Given the description of an element on the screen output the (x, y) to click on. 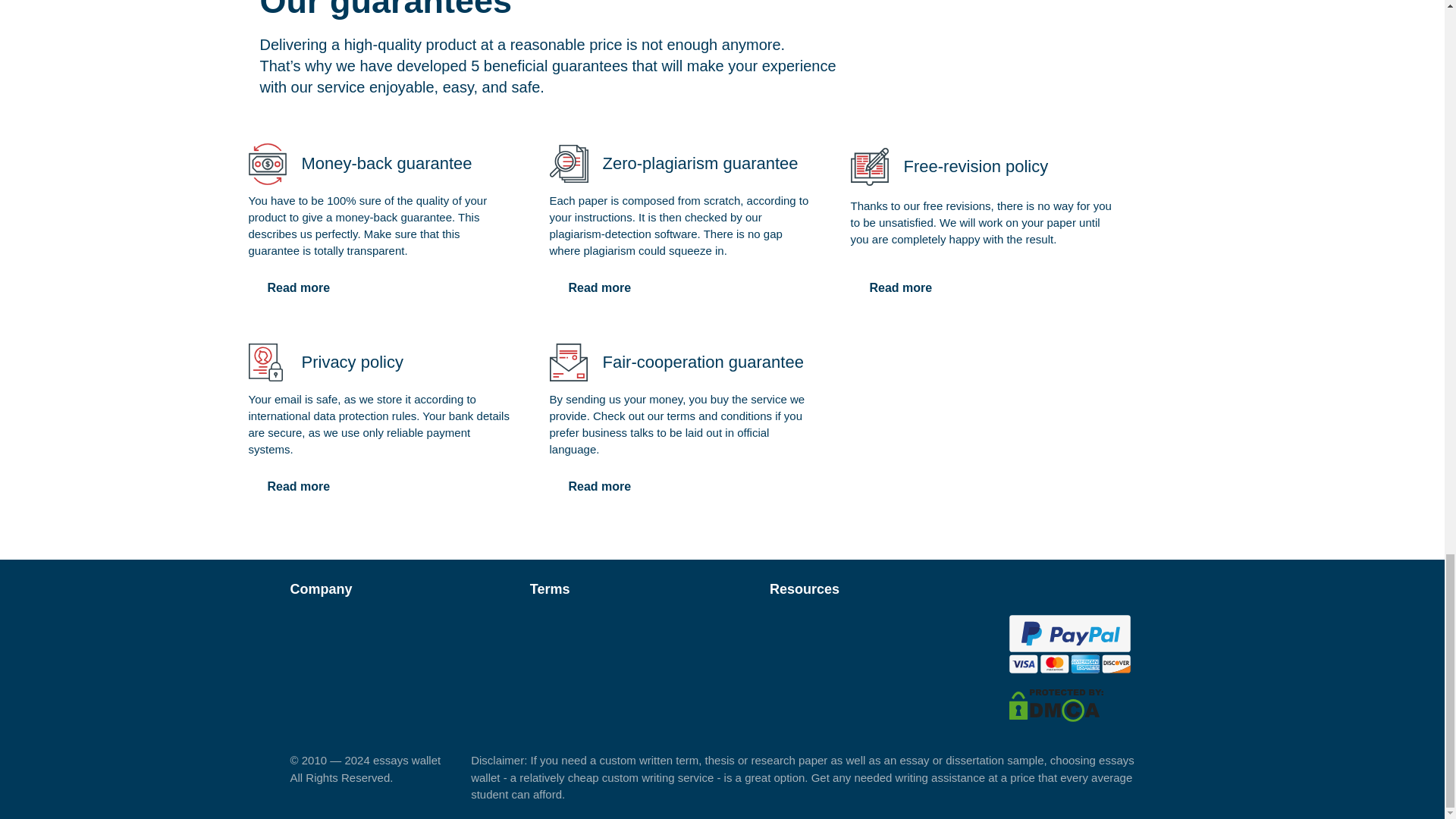
Read more (901, 287)
Read more (298, 287)
Read more (598, 486)
Read more (598, 287)
Read more (298, 486)
